Given the description of an element on the screen output the (x, y) to click on. 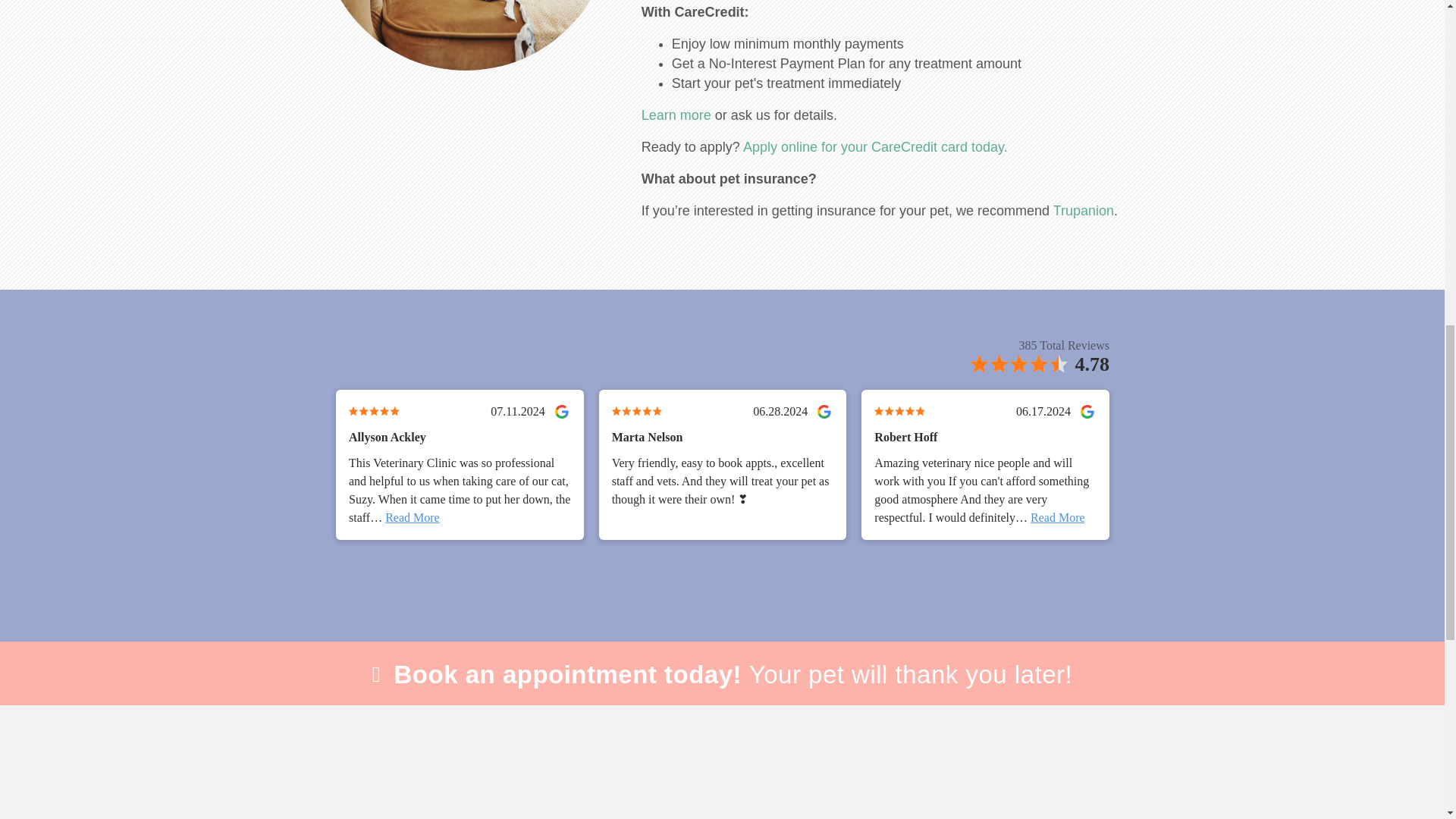
Trupanion (1082, 210)
Learn more (676, 114)
Dog On Sofa Circle (465, 35)
Apply online for your CareCredit card today. (874, 146)
